Given the description of an element on the screen output the (x, y) to click on. 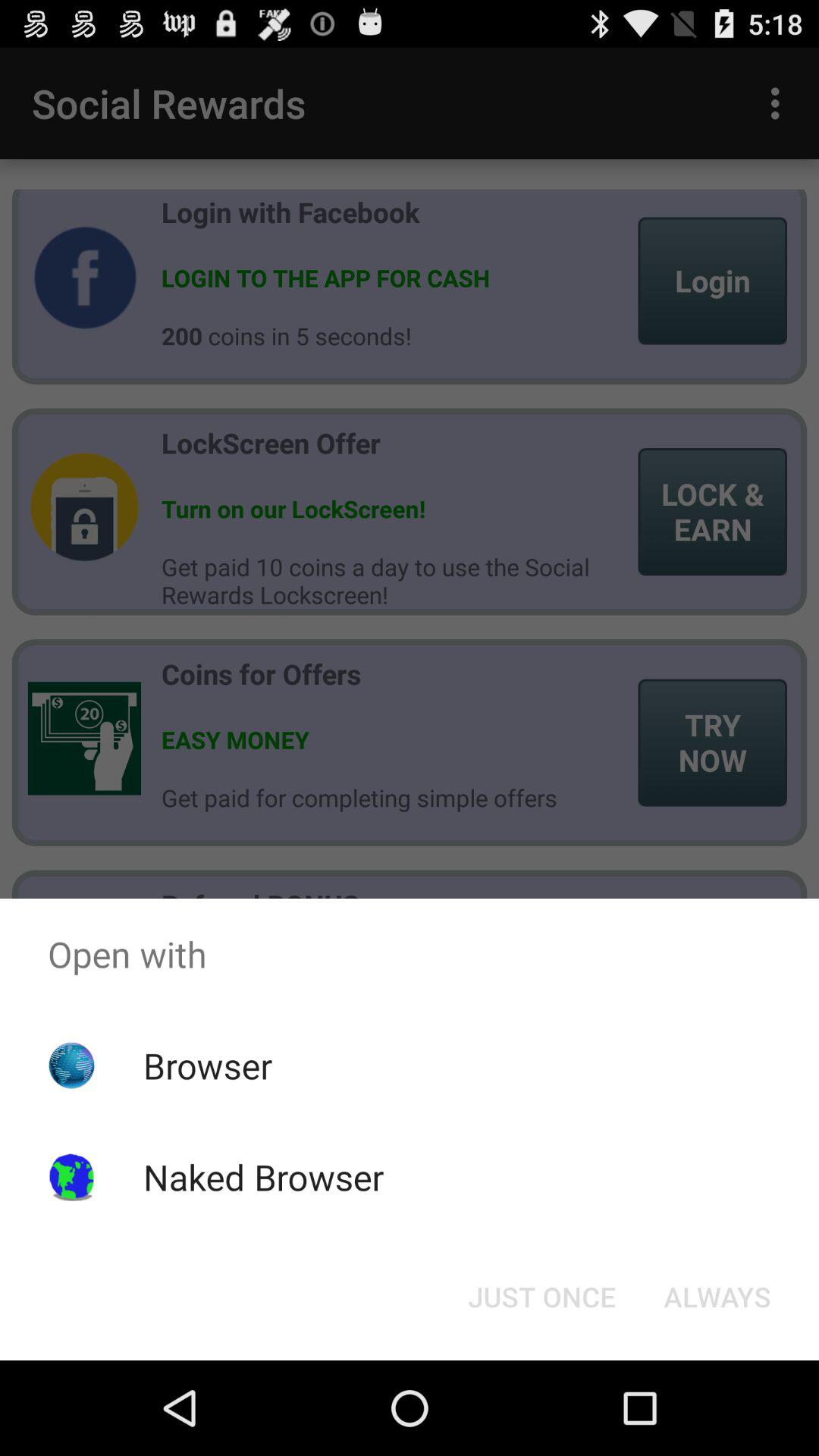
launch item to the right of just once button (717, 1296)
